Given the description of an element on the screen output the (x, y) to click on. 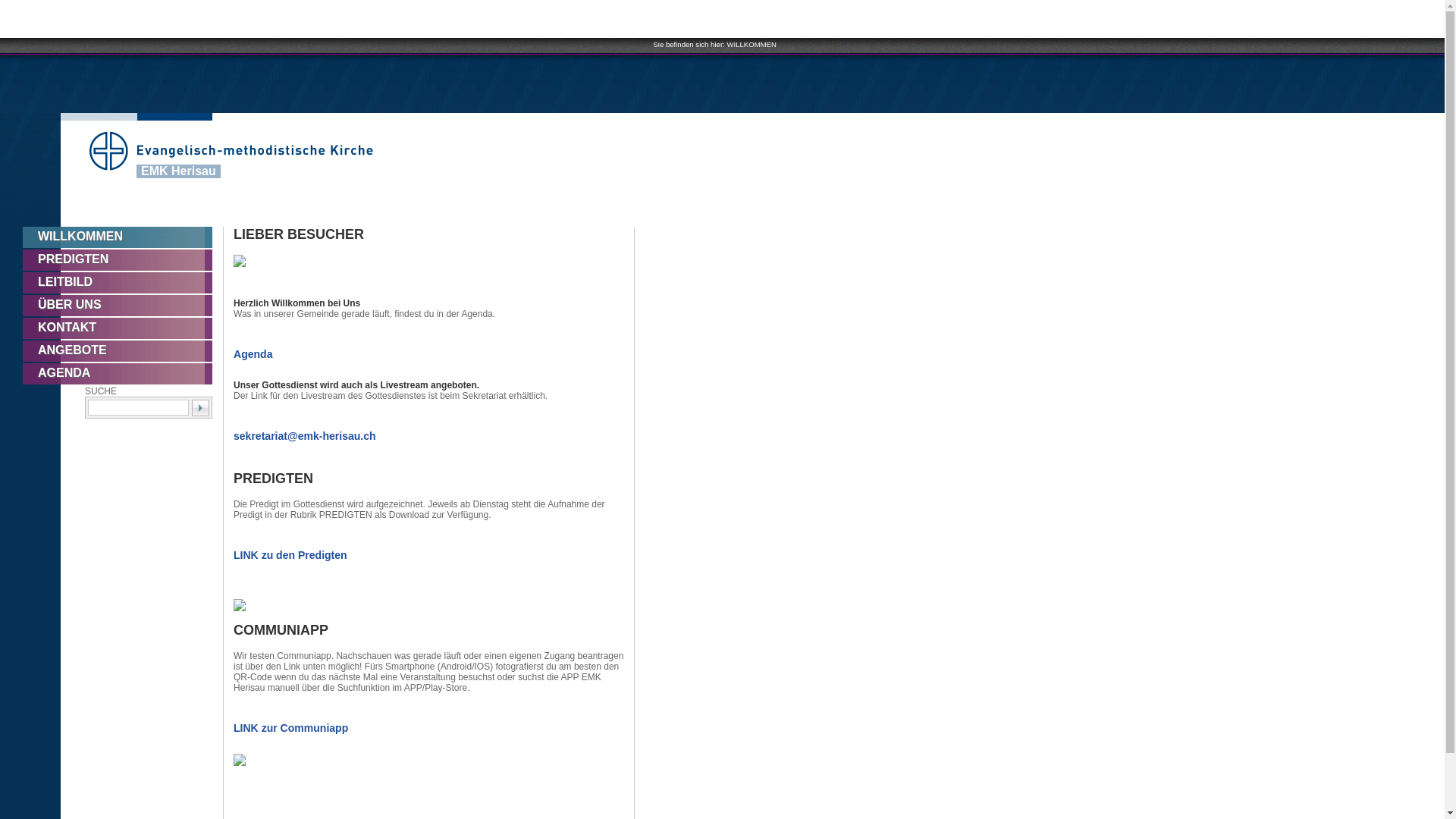
LINK zur Communiapp Element type: text (431, 727)
Agenda Element type: text (431, 354)
LINK zu den Predigten Element type: text (431, 555)
WILLKOMMEN Element type: text (751, 44)
ANGEBOTE Element type: text (122, 350)
AGENDA Element type: text (122, 373)
sekretariat@emk-herisau.ch Element type: text (431, 435)
LEITBILD Element type: text (122, 282)
WILLKOMMEN Element type: text (122, 236)
PREDIGTEN Element type: text (122, 259)
  Element type: text (200, 407)
KONTAKT Element type: text (122, 327)
Anmelden Element type: text (707, 222)
